Given the description of an element on the screen output the (x, y) to click on. 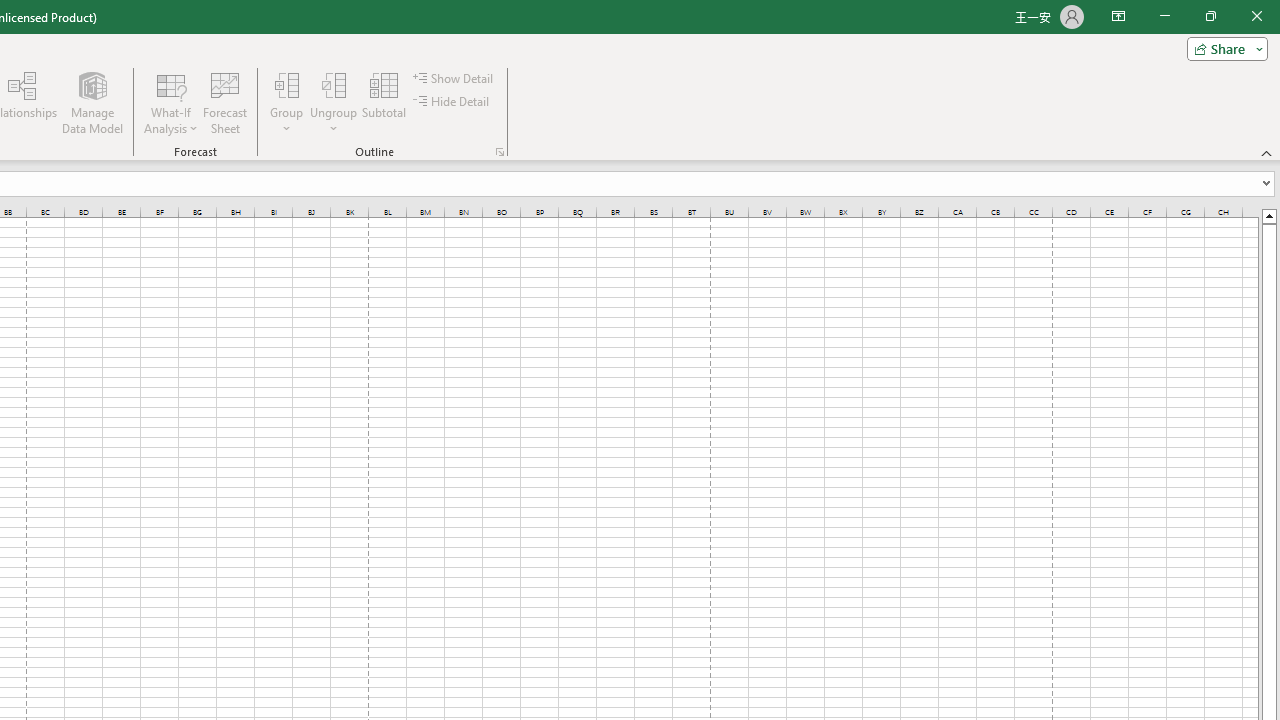
Line up (1268, 215)
Subtotal (384, 102)
Manage Data Model (92, 102)
Hide Detail (452, 101)
Group... (287, 102)
Ungroup... (333, 84)
Ribbon Display Options (1118, 16)
Group... (287, 84)
Ungroup... (333, 102)
What-If Analysis (171, 102)
Group and Outline Settings (499, 151)
Show Detail (454, 78)
Minimize (1164, 16)
